Given the description of an element on the screen output the (x, y) to click on. 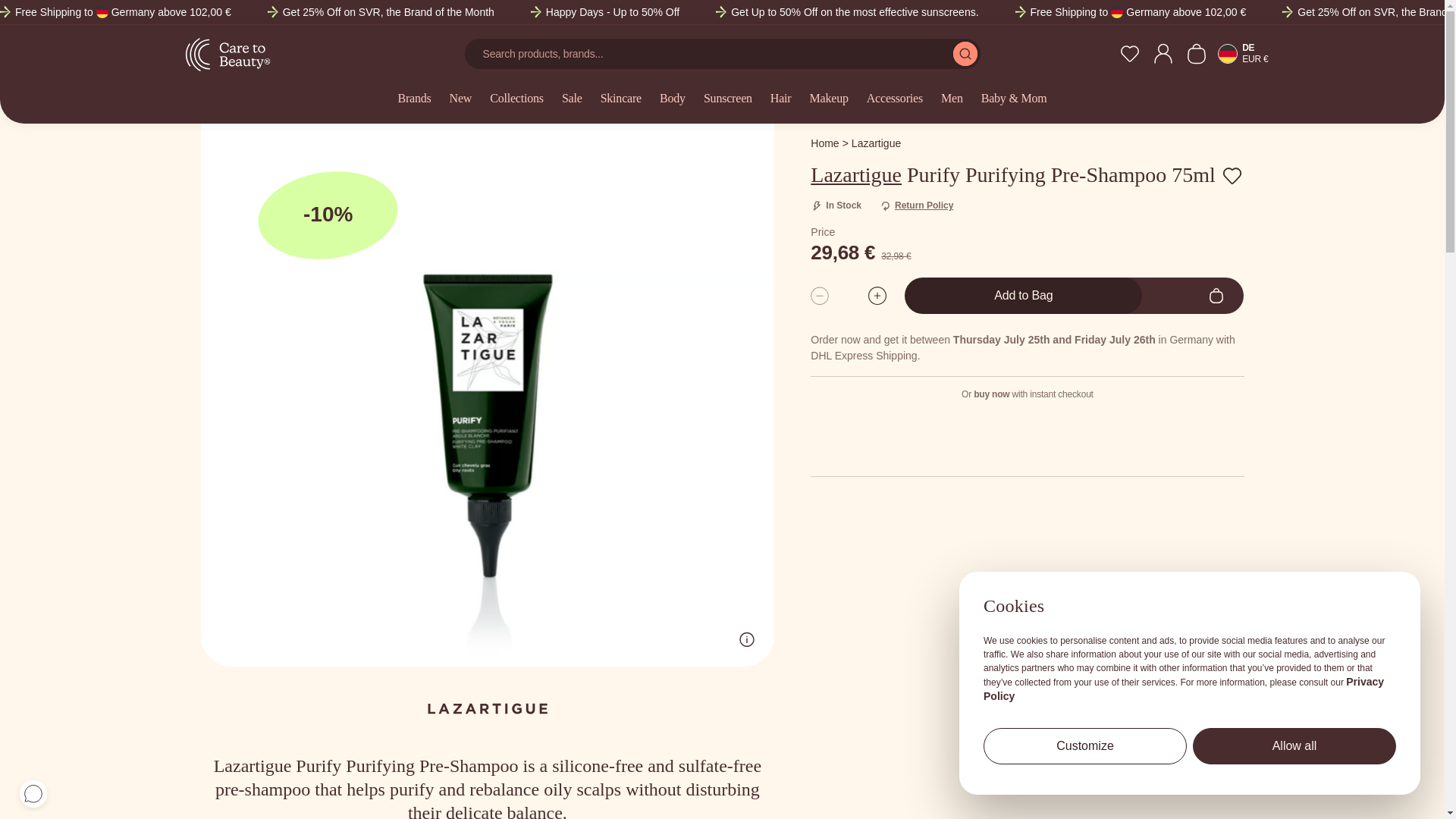
Privacy Policy (1184, 688)
